Given the description of an element on the screen output the (x, y) to click on. 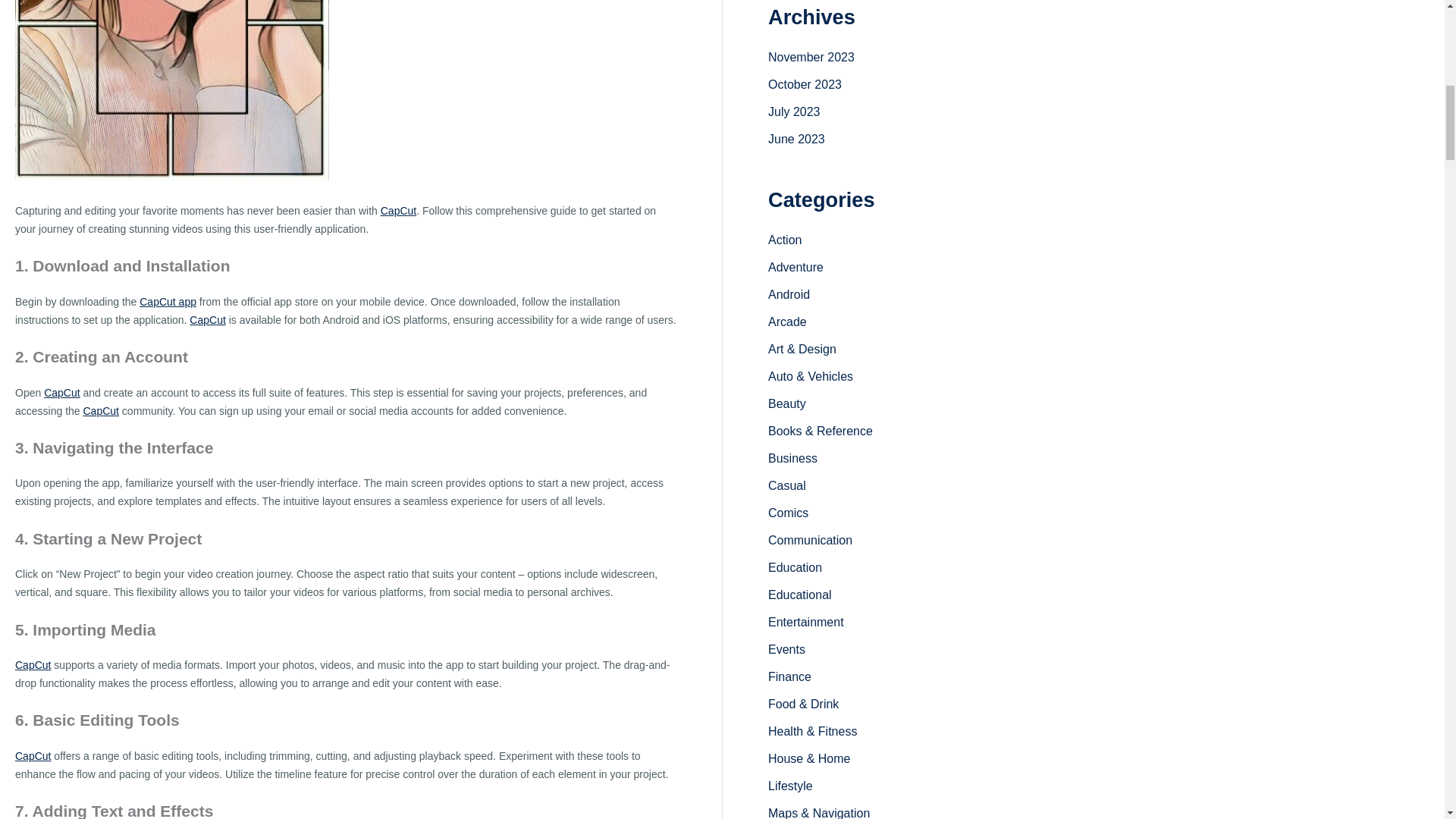
CapCut (32, 664)
CapCut (32, 664)
CapCut (61, 392)
CapCut (61, 392)
CapCut (398, 210)
CapCut (207, 319)
CapCut (100, 410)
CapCut app (167, 301)
CapCut (398, 210)
CapCut (32, 756)
